Given the description of an element on the screen output the (x, y) to click on. 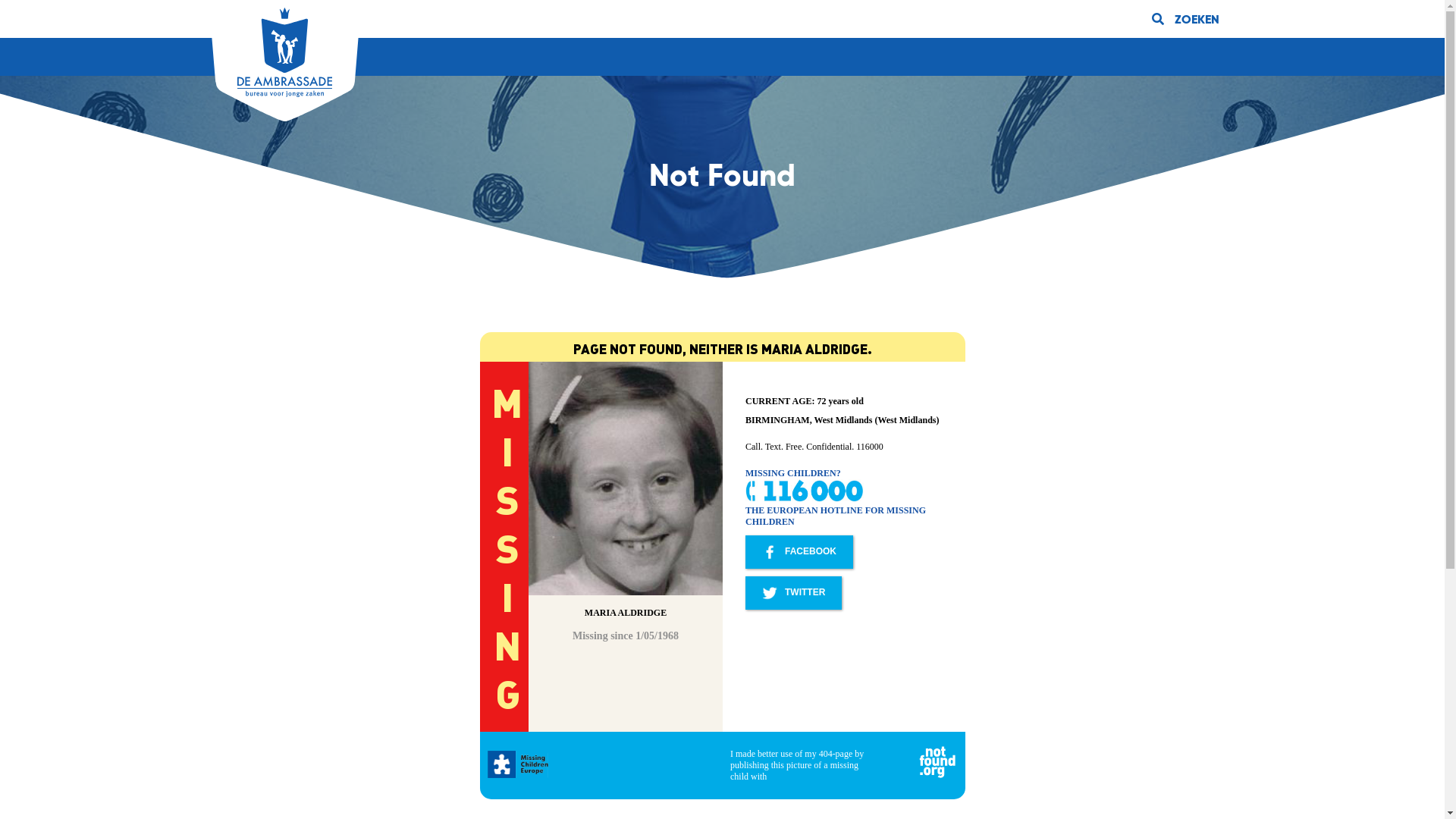
[anysurfer.logo] Element type: hover (283, 52)
ZOEKEN Element type: text (1184, 18)
